Given the description of an element on the screen output the (x, y) to click on. 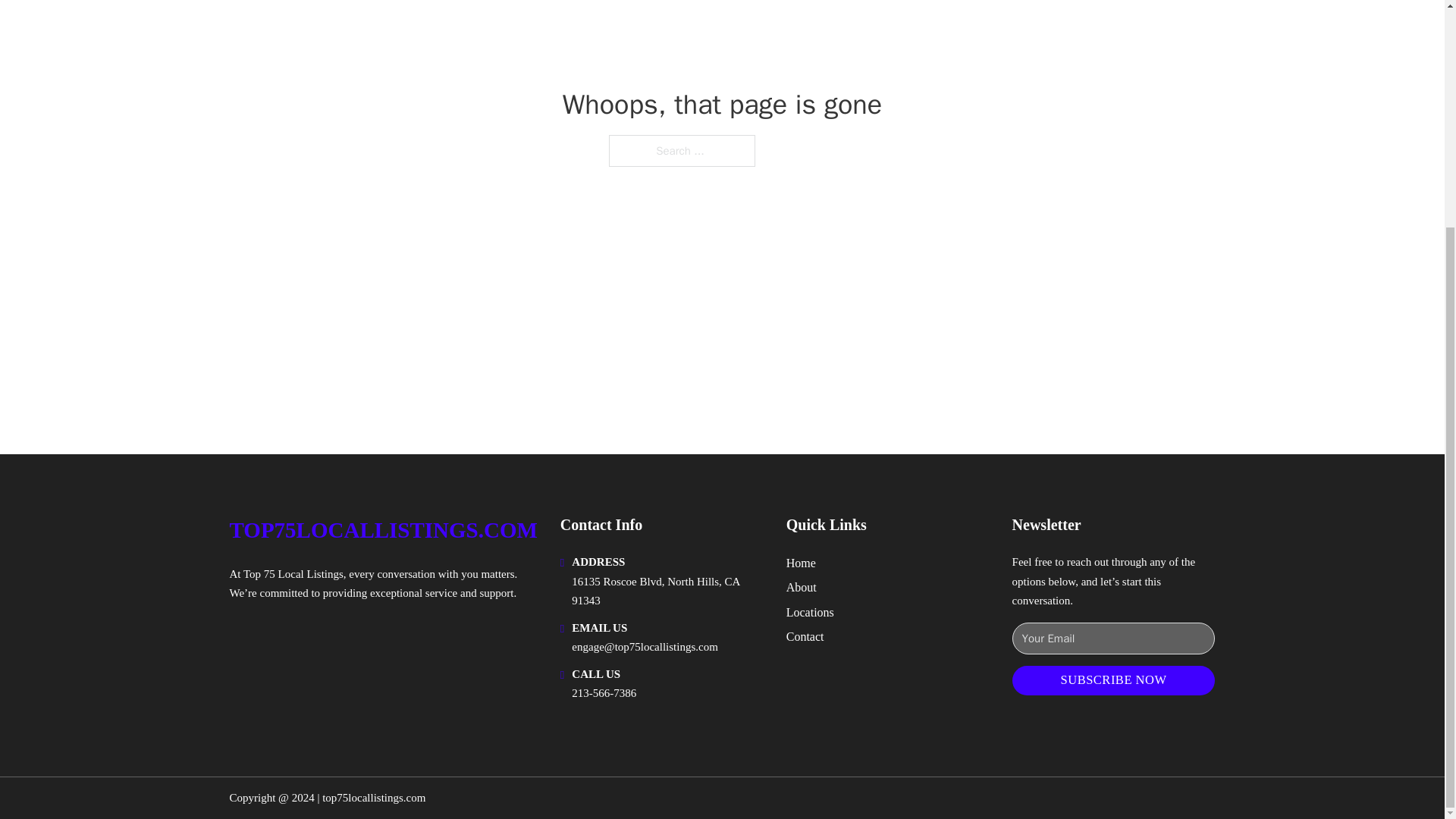
Locations (810, 611)
Home (800, 562)
TOP75LOCALLISTINGS.COM (382, 529)
About (801, 587)
SUBSCRIBE NOW (1113, 680)
Contact (805, 636)
213-566-7386 (604, 693)
